Given the description of an element on the screen output the (x, y) to click on. 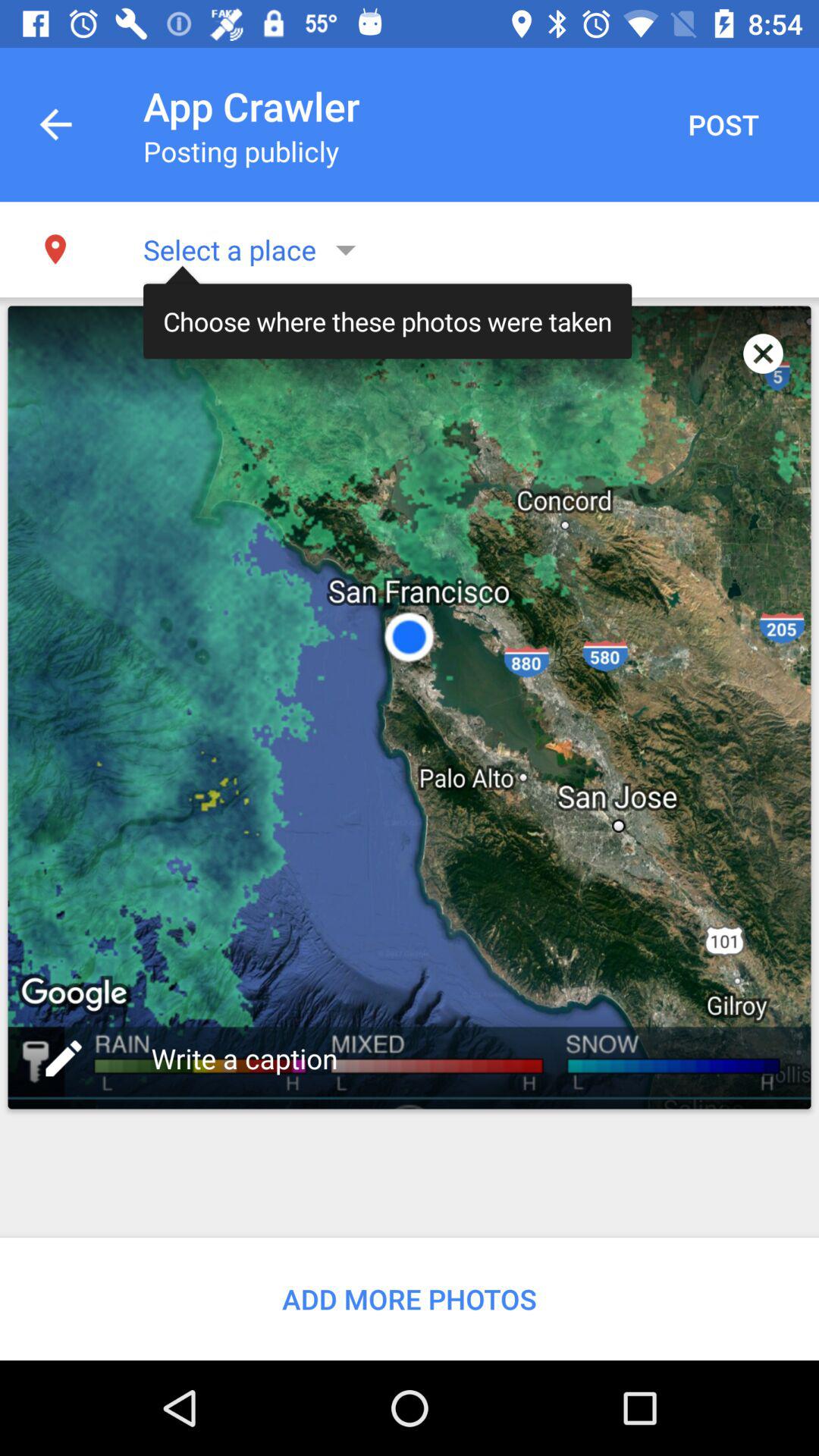
turn on item to the right of app crawler icon (723, 124)
